Given the description of an element on the screen output the (x, y) to click on. 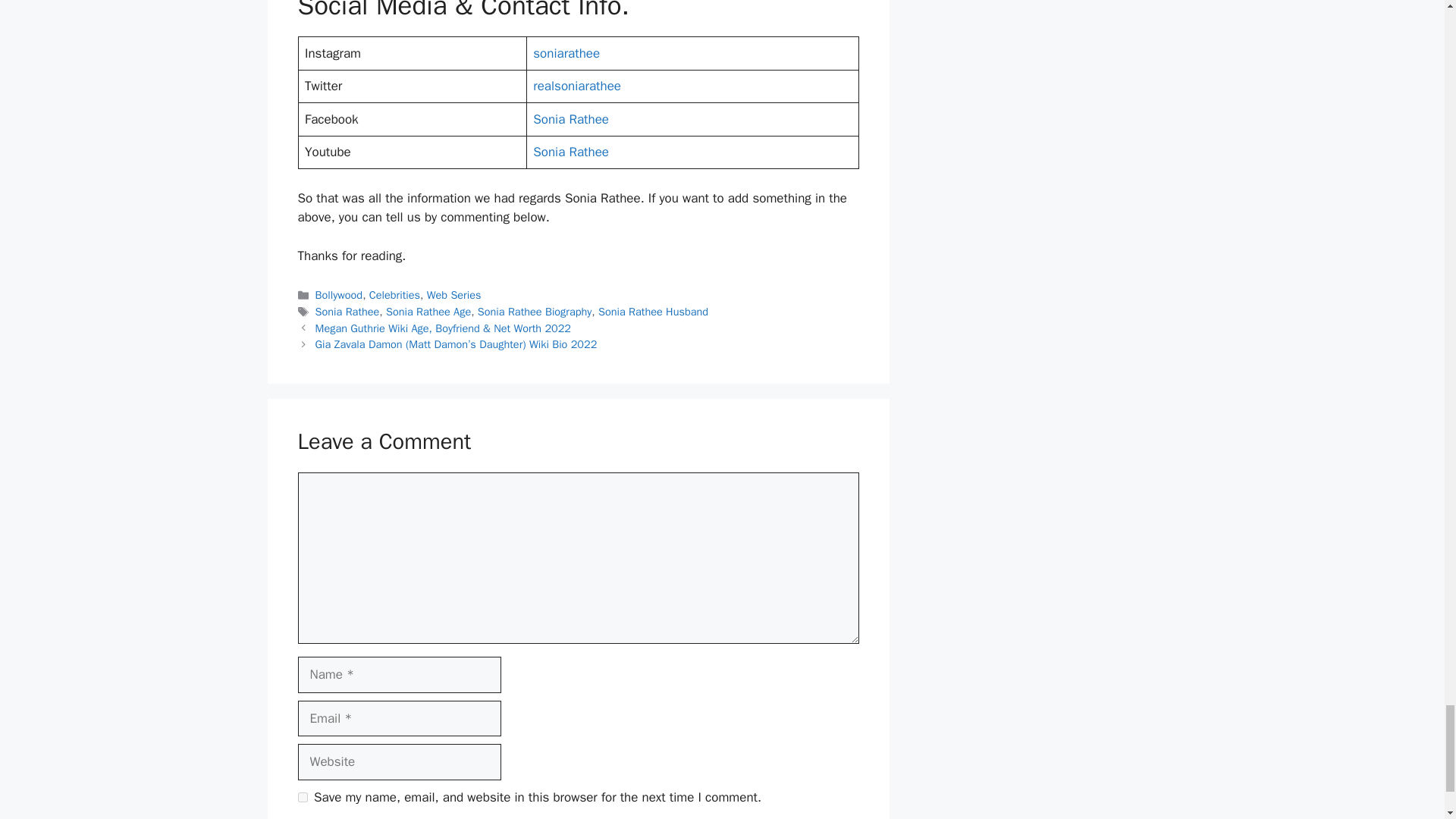
Web Series (453, 295)
Sonia Rathee Biography (534, 311)
Sonia Rathee (570, 151)
yes (302, 797)
realsoniarathee (576, 85)
Sonia Rathee Age (427, 311)
Sonia Rathee (570, 119)
Sonia Rathee Husband (652, 311)
Celebrities (394, 295)
Bollywood (338, 295)
soniarathee (565, 53)
Sonia Rathee (347, 311)
